Given the description of an element on the screen output the (x, y) to click on. 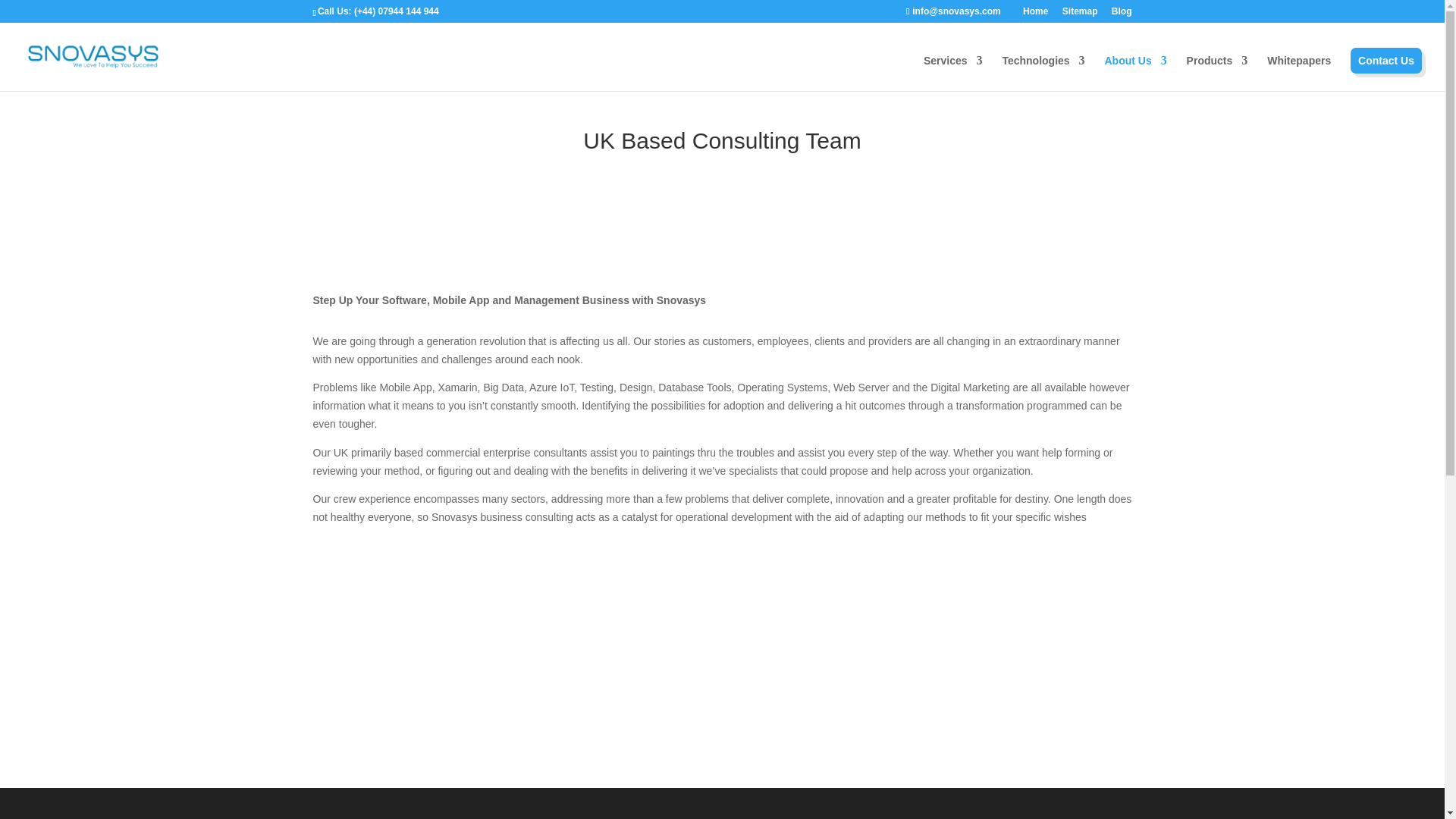
Home (1035, 14)
Blog (1122, 14)
Services (952, 72)
Sitemap (1079, 14)
